Given the description of an element on the screen output the (x, y) to click on. 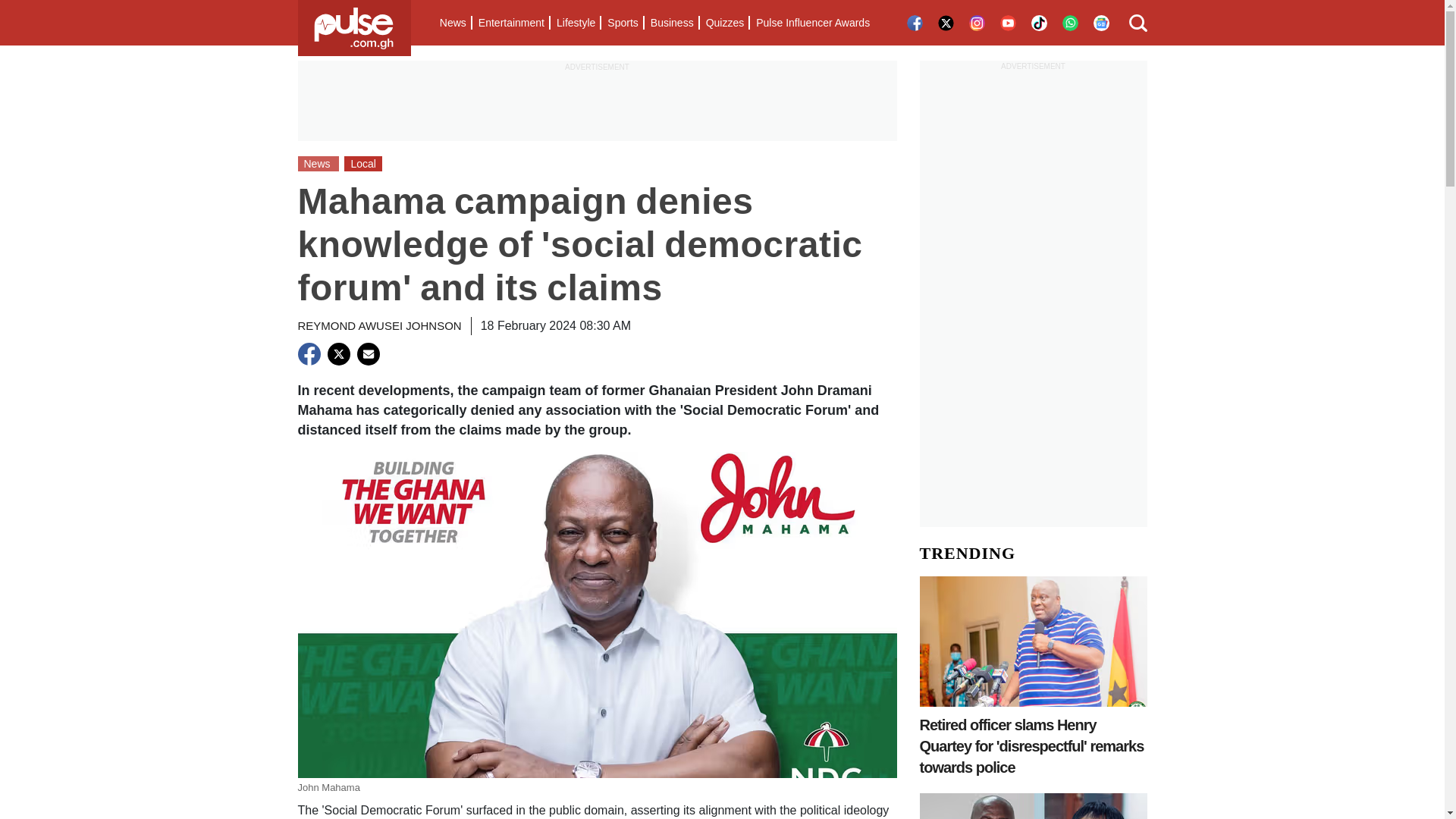
Entertainment (510, 22)
Lifestyle (575, 22)
Sports (622, 22)
Business (672, 22)
